Given the description of an element on the screen output the (x, y) to click on. 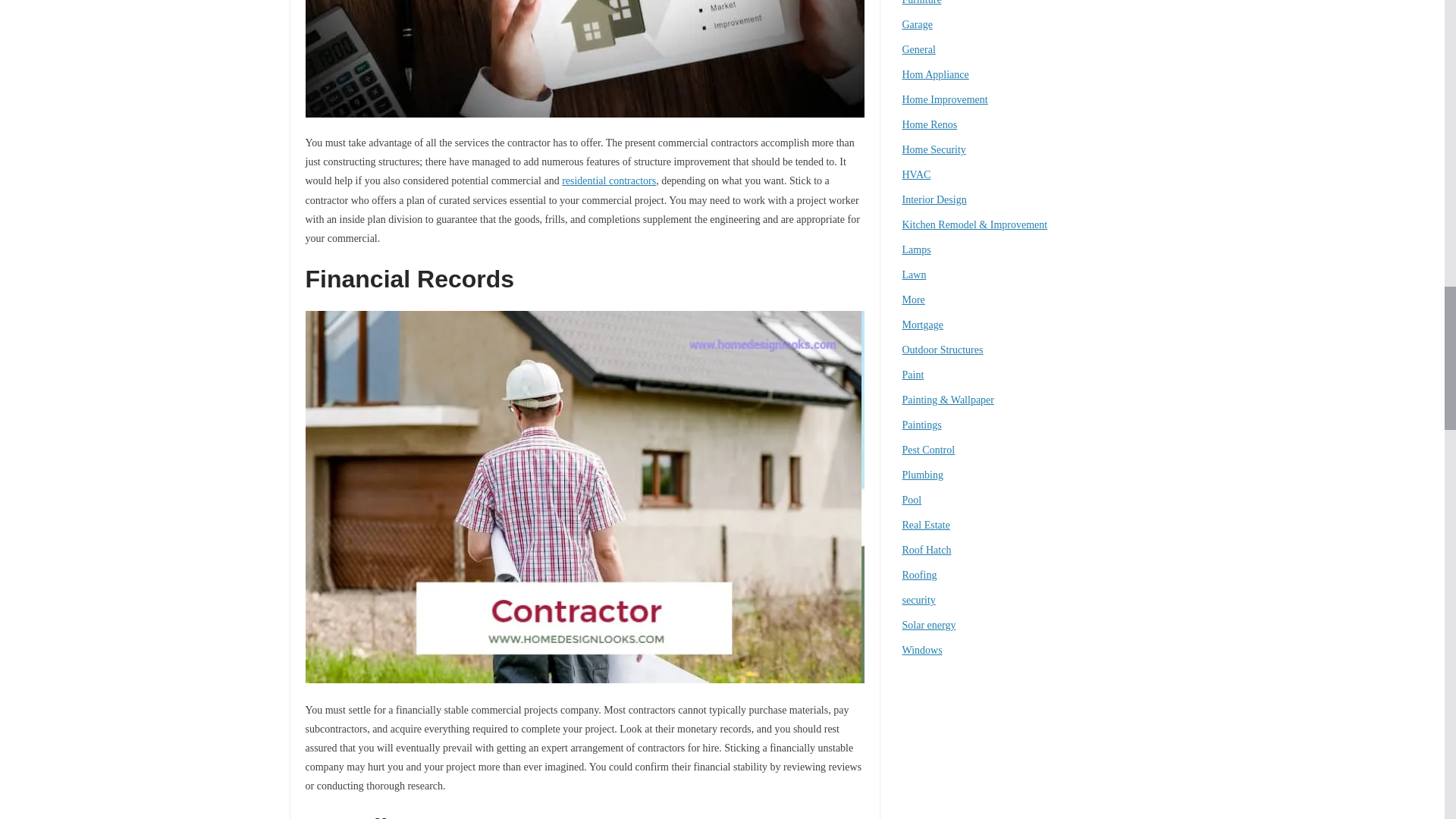
residential contractors (609, 180)
